Given the description of an element on the screen output the (x, y) to click on. 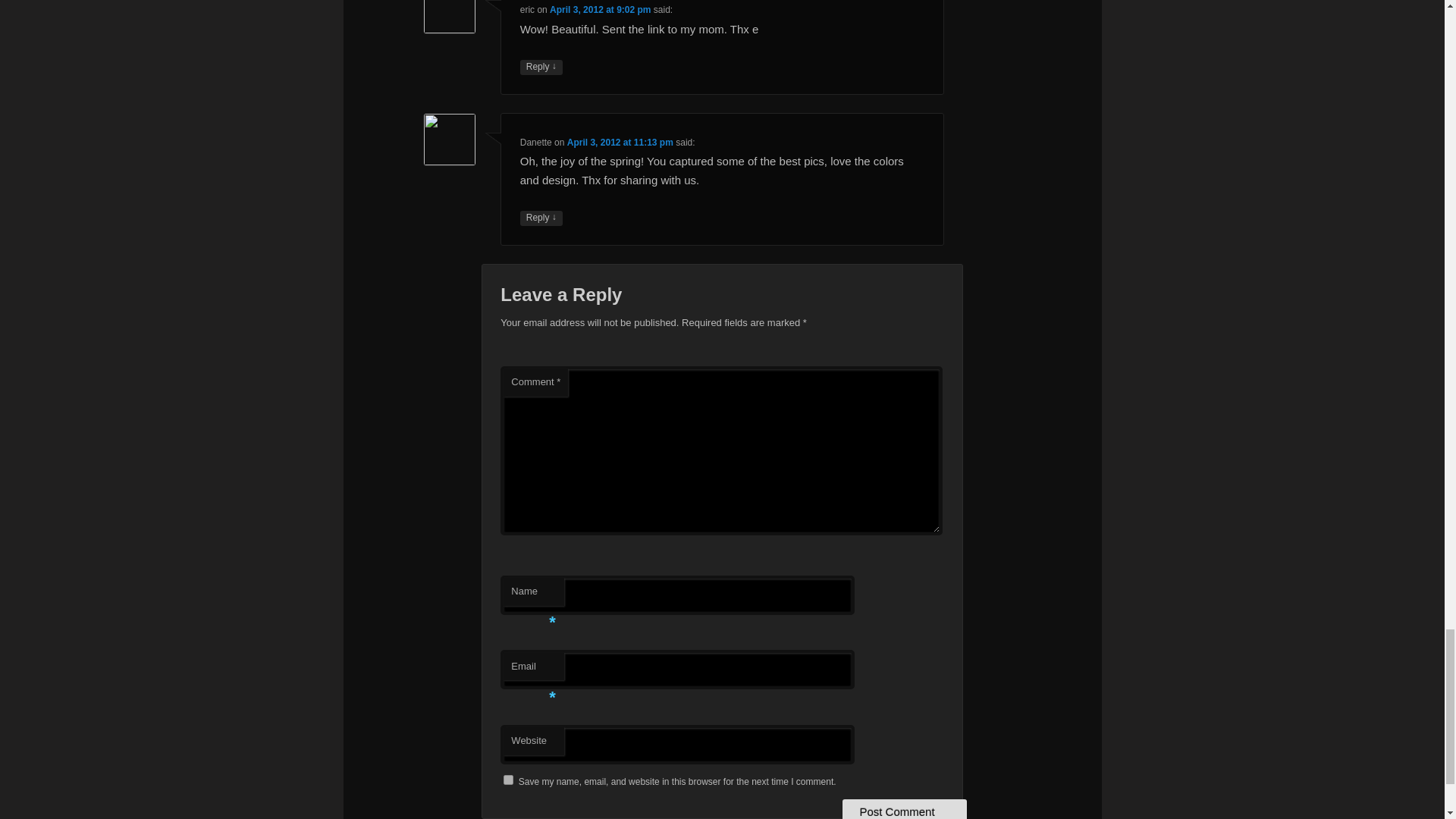
April 3, 2012 at 9:02 pm (600, 9)
Post Comment (904, 809)
April 3, 2012 at 11:13 pm (619, 142)
yes (508, 779)
Post Comment (904, 809)
